Given the description of an element on the screen output the (x, y) to click on. 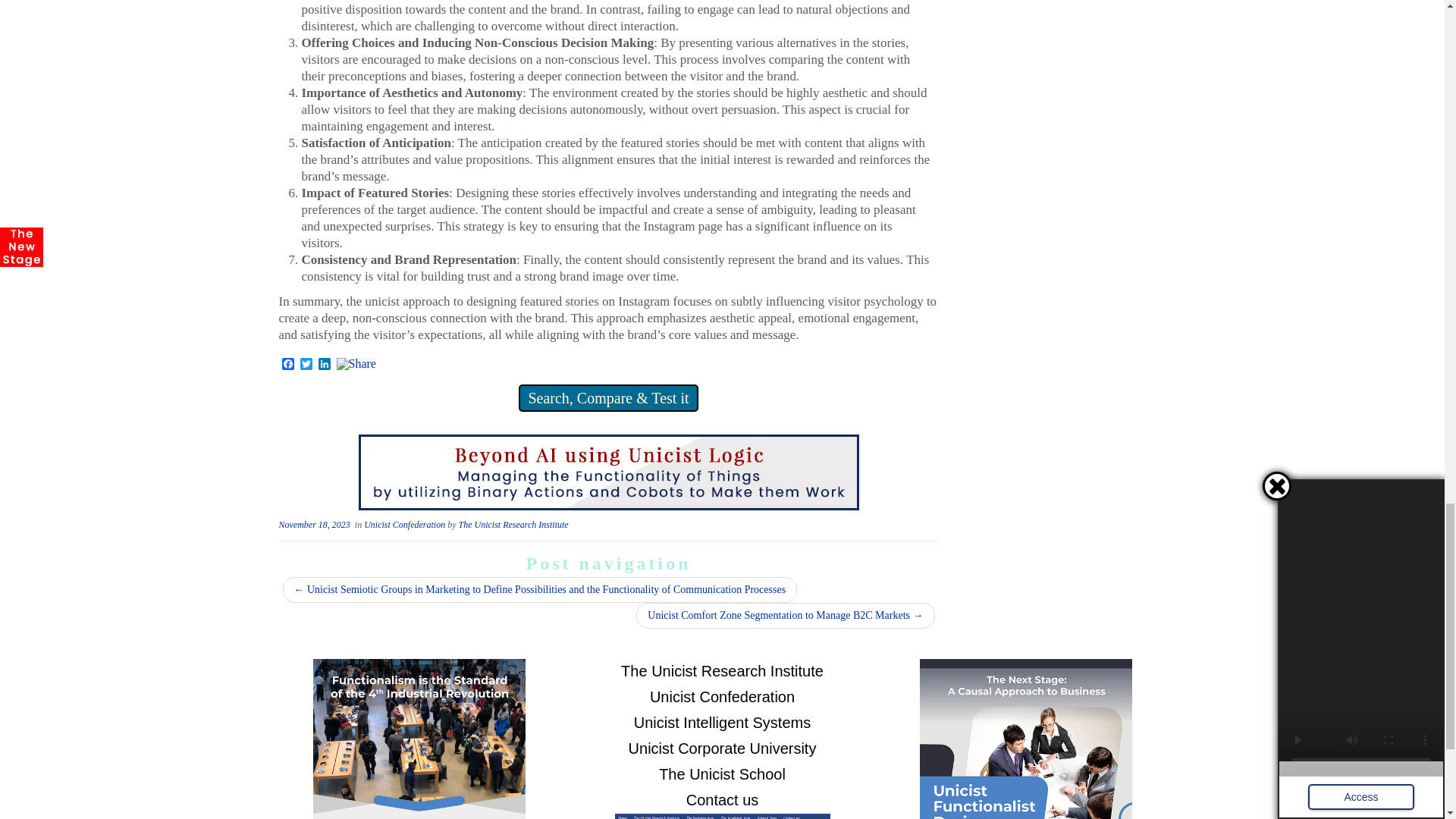
Facebook (288, 364)
LinkedIn (324, 364)
Facebook (288, 364)
Twitter (306, 364)
Twitter (306, 364)
LinkedIn (324, 364)
View all posts in Unicist Confederation (405, 524)
8:26 pm (314, 524)
View all posts by The Unicist Research Institute (512, 524)
Unicist Functionalist Principles (608, 471)
